Given the description of an element on the screen output the (x, y) to click on. 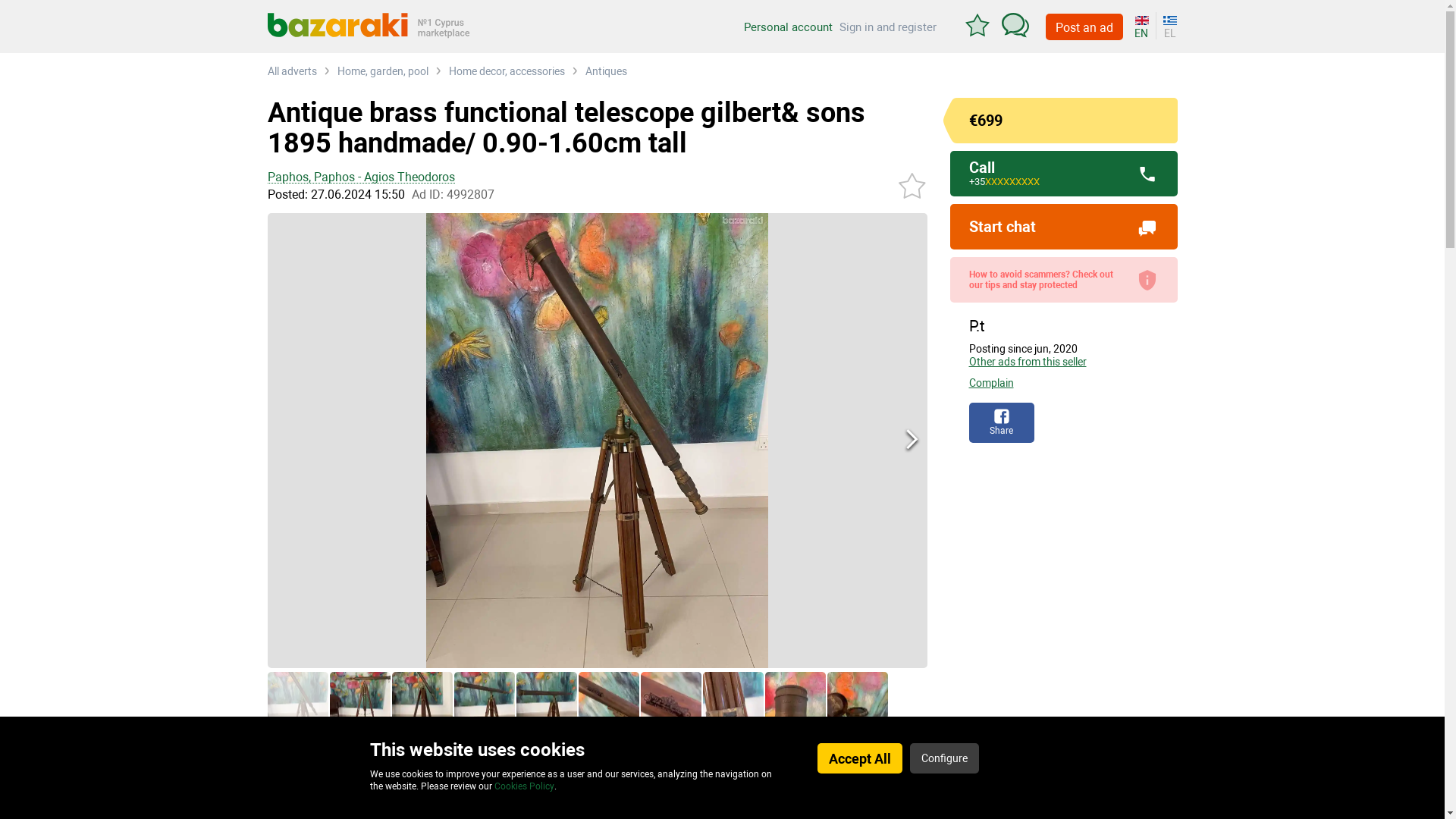
Home, garden, pool (382, 71)
EN (1145, 25)
Paphos, Paphos - Agios Theodoros (596, 176)
EL (1167, 25)
Post an ad (1083, 26)
Home decor, accessories (506, 71)
All adverts (290, 71)
Antiques (606, 71)
